Given the description of an element on the screen output the (x, y) to click on. 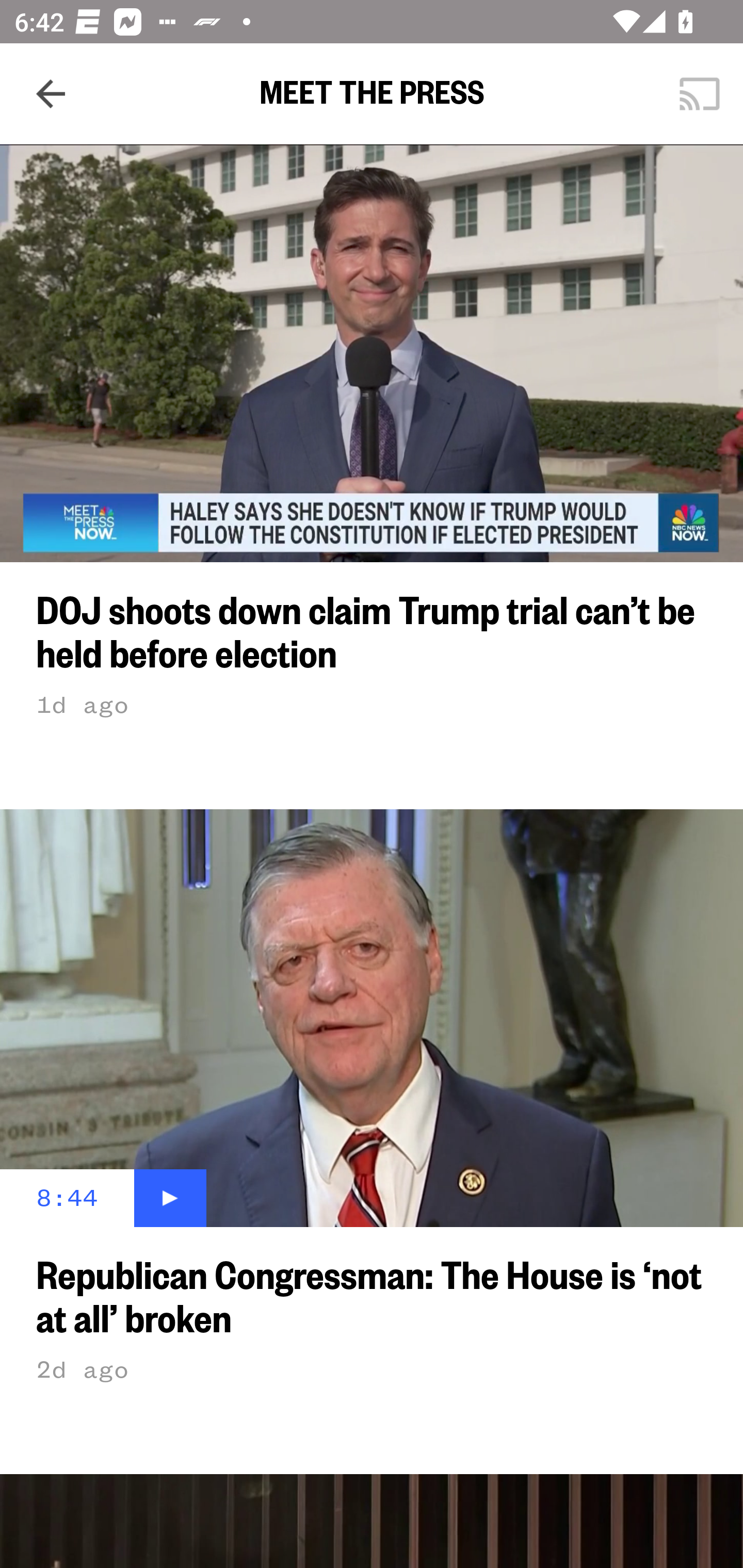
Navigate up (50, 93)
Cast. Disconnected (699, 93)
